Given the description of an element on the screen output the (x, y) to click on. 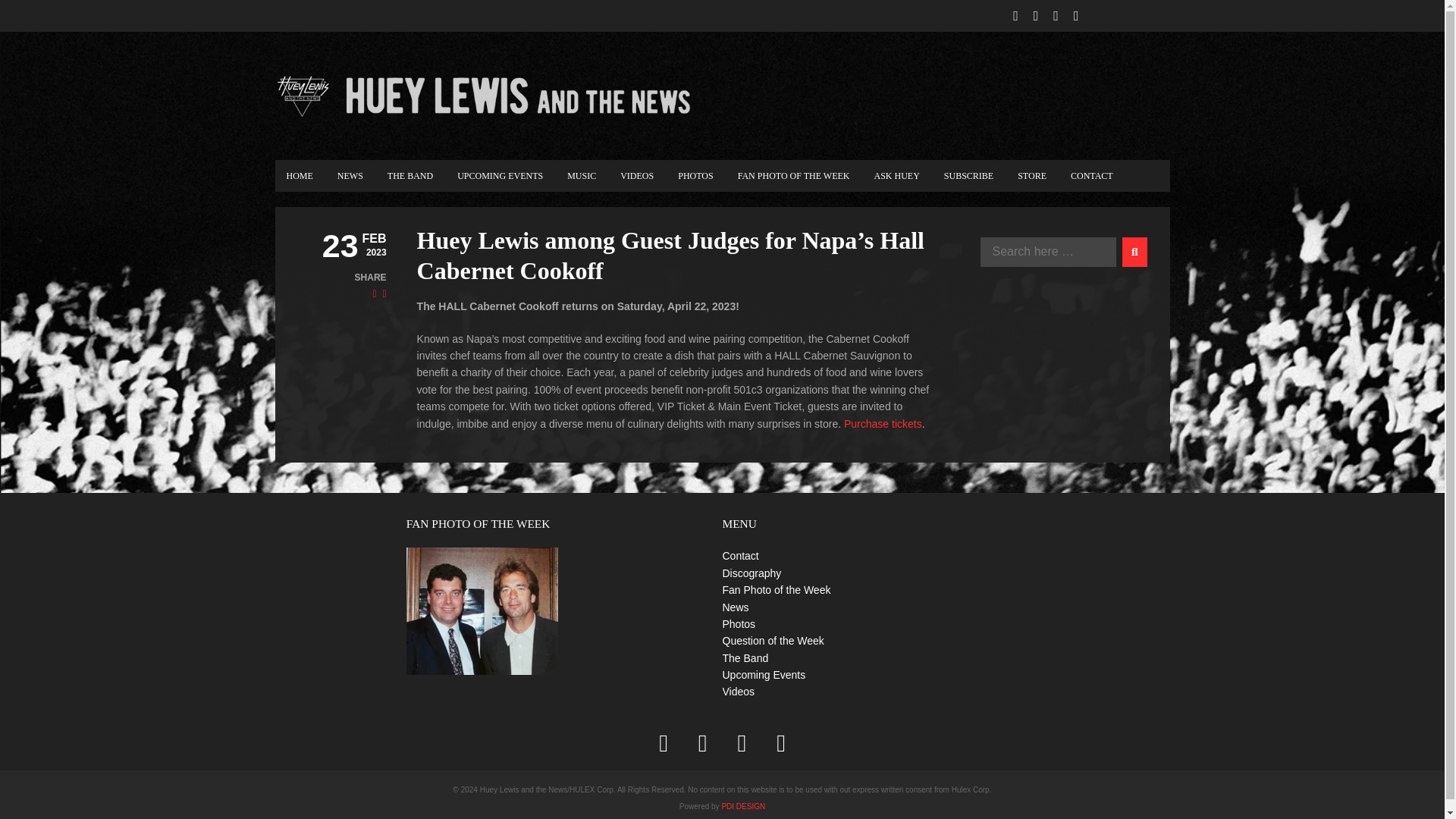
THE BAND (409, 175)
SUBSCRIBE (968, 175)
Purchase tickets (881, 423)
VIDEOS (636, 175)
Photos (738, 623)
UPCOMING EVENTS (499, 175)
Fan Photo of the Week (775, 589)
ASK HUEY (895, 175)
Discography (751, 573)
PHOTOS (694, 175)
NEWS (350, 175)
CONTACT (1091, 175)
FAN PHOTO OF THE WEEK (793, 175)
